Given the description of an element on the screen output the (x, y) to click on. 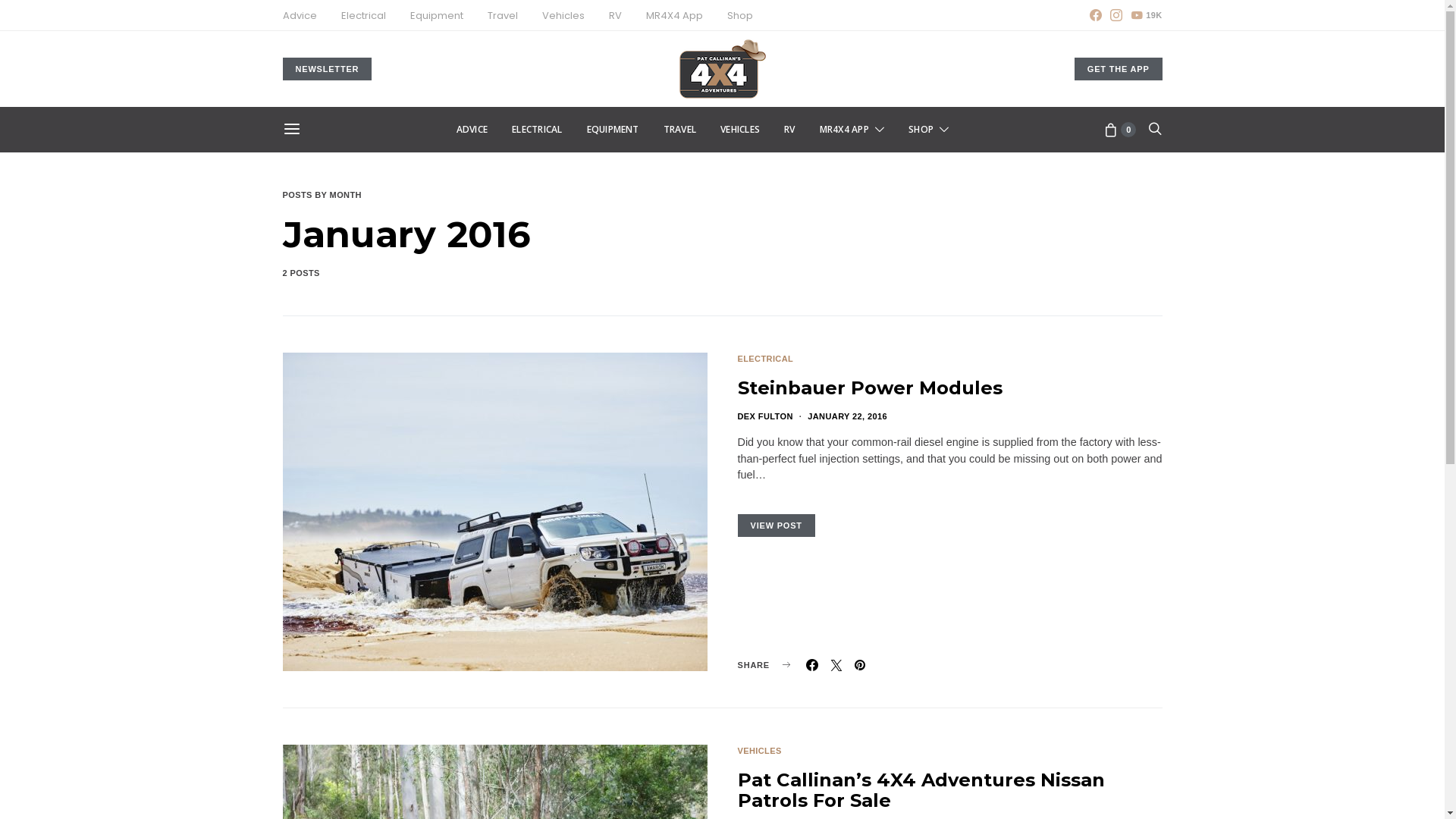
Electrical Element type: text (363, 15)
ELECTRICAL Element type: text (536, 129)
ADVICE Element type: text (471, 129)
Equipment Element type: text (435, 15)
GET THE APP Element type: text (1118, 69)
EQUIPMENT Element type: text (612, 129)
Travel Element type: text (501, 15)
RV Element type: text (614, 15)
JANUARY 22, 2016 Element type: text (847, 415)
TRAVEL Element type: text (679, 129)
SHOP Element type: text (928, 129)
VEHICLES Element type: text (739, 129)
MR4X4 APP Element type: text (851, 129)
NEWSLETTER Element type: text (326, 69)
MR4X4 App Element type: text (674, 15)
Shop Element type: text (739, 15)
VIEW POST Element type: text (775, 525)
Steinbauer Power Modules Element type: text (869, 387)
Vehicles Element type: text (562, 15)
19K Element type: text (1145, 15)
VEHICLES Element type: text (759, 750)
RV Element type: text (789, 129)
0 Element type: text (1119, 129)
Advice Element type: text (299, 15)
DEX FULTON Element type: text (764, 415)
ELECTRICAL Element type: text (765, 358)
